Given the description of an element on the screen output the (x, y) to click on. 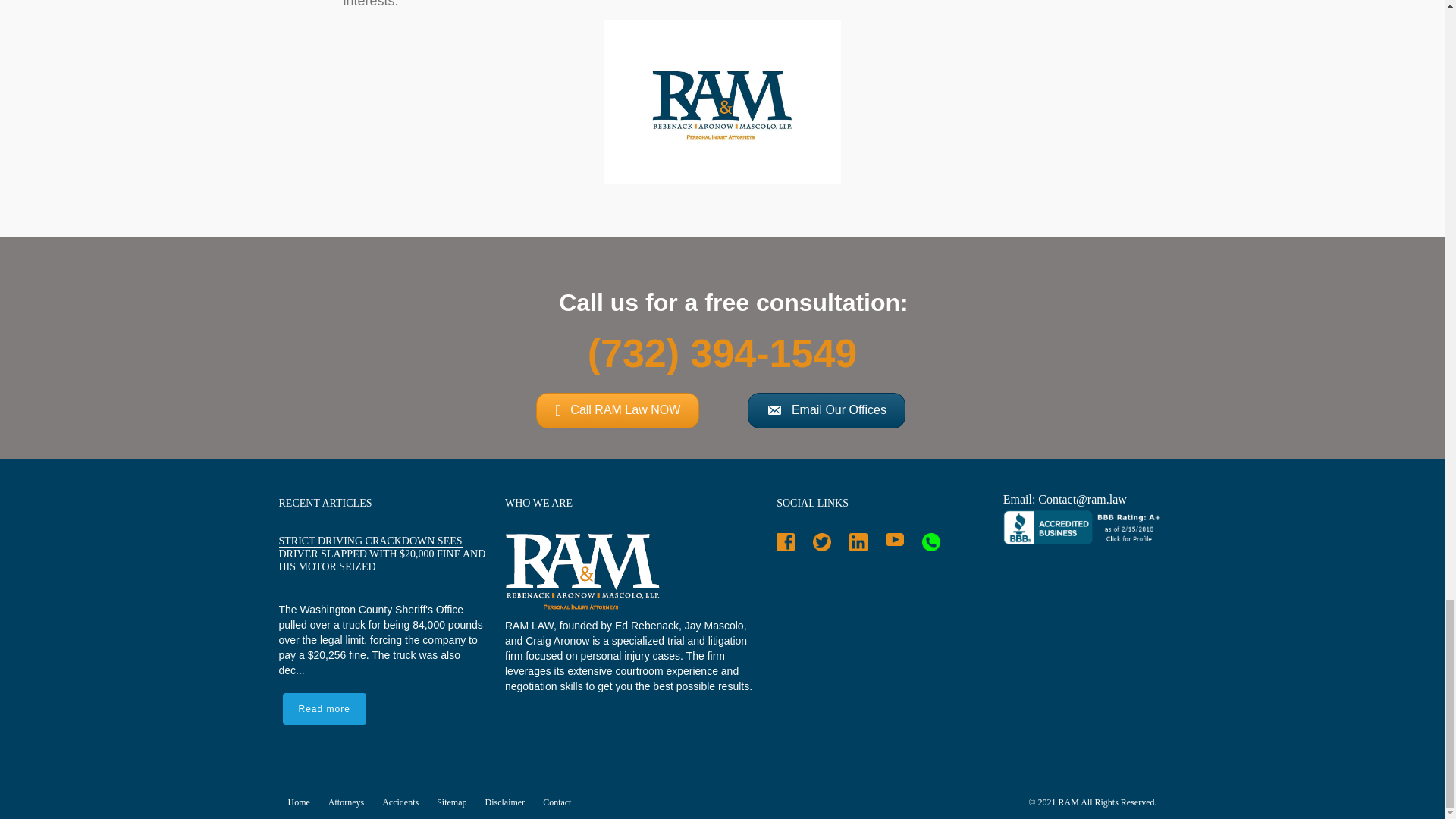
Home (303, 802)
Read more (323, 708)
Email Our Offices (826, 410)
Follow Us on LinkedIn (862, 545)
Contact (561, 802)
Disclaimer (509, 802)
Logo for truck site brake failure page (722, 101)
Follow Us on YouTube (898, 542)
Accidents (404, 802)
Attorneys (350, 802)
